Given the description of an element on the screen output the (x, y) to click on. 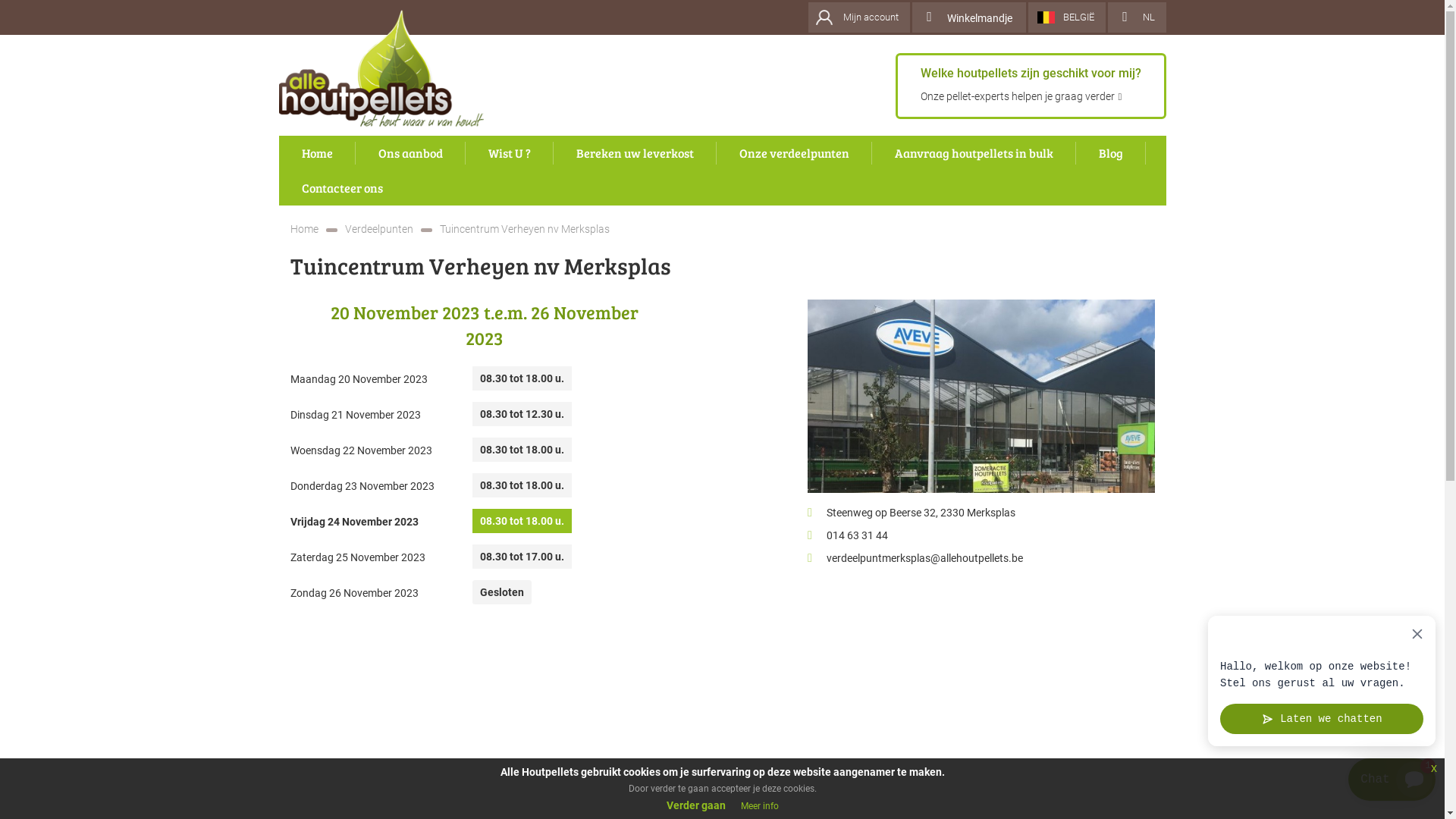
NL Element type: text (1136, 17)
Onze verdeelpunten Element type: text (793, 152)
x Element type: text (1433, 768)
Winkelmandje Element type: text (968, 17)
Home Element type: text (303, 228)
014 63 31 44 Element type: text (857, 535)
Verdeelpunten Element type: text (378, 228)
Contacteer ons Element type: text (342, 187)
Verder gaan Element type: text (694, 805)
verdeelpuntmerksplas@allehoutpellets.be Element type: text (924, 558)
Aanvraag houtpellets in bulk Element type: text (974, 152)
Home Element type: text (317, 152)
Ons aanbod Element type: text (409, 152)
Meer info Element type: text (759, 805)
Mijn account Element type: text (859, 17)
Smartsupp widget button Element type: hover (1391, 779)
Bereken uw leverkost Element type: text (634, 152)
Onze pellet-experts helpen je graag verder Element type: text (1021, 96)
Wist U ? Element type: text (509, 152)
Blog Element type: text (1110, 152)
Steenweg op Beerse 32, 2330 Merksplas Element type: text (920, 512)
Smartsupp widget popup Element type: hover (1321, 680)
